Given the description of an element on the screen output the (x, y) to click on. 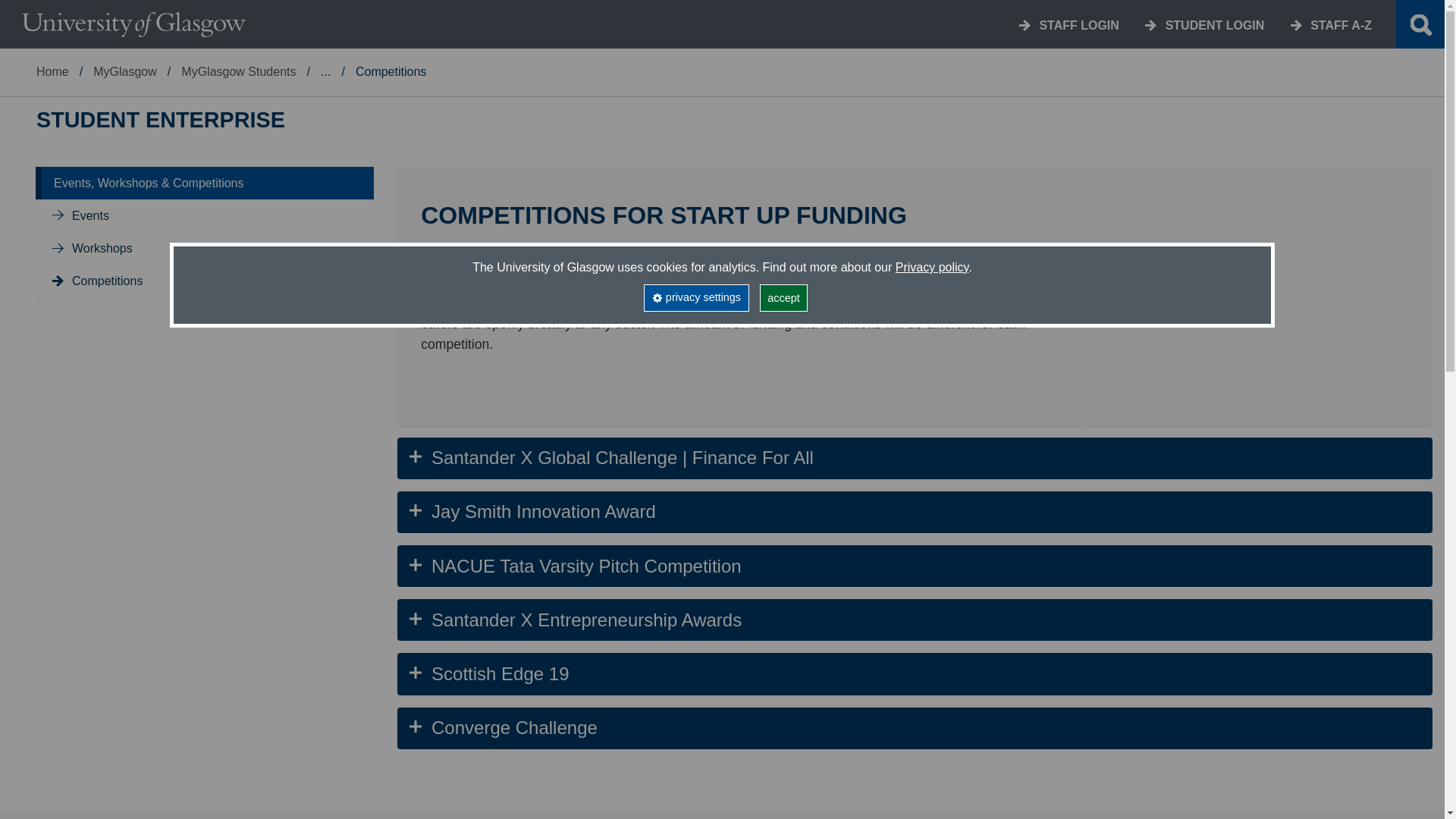
privacy settings (695, 298)
STUDENT ENTERPRISE (160, 119)
Privacy policy (932, 267)
STAFF LOGIN (1078, 24)
accept (784, 298)
Competitions (106, 280)
MyGlasgow (125, 71)
STUDENT LOGIN (1215, 24)
Workshops (101, 247)
MyGlasgow Students (237, 71)
Events (90, 215)
Home (52, 71)
STAFF A-Z (1340, 24)
